Given the description of an element on the screen output the (x, y) to click on. 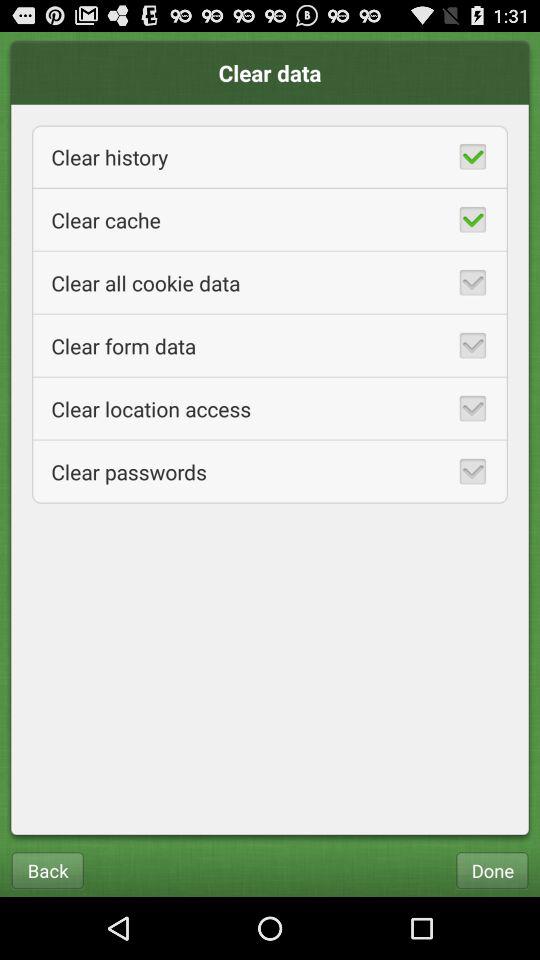
open back icon (47, 870)
